Given the description of an element on the screen output the (x, y) to click on. 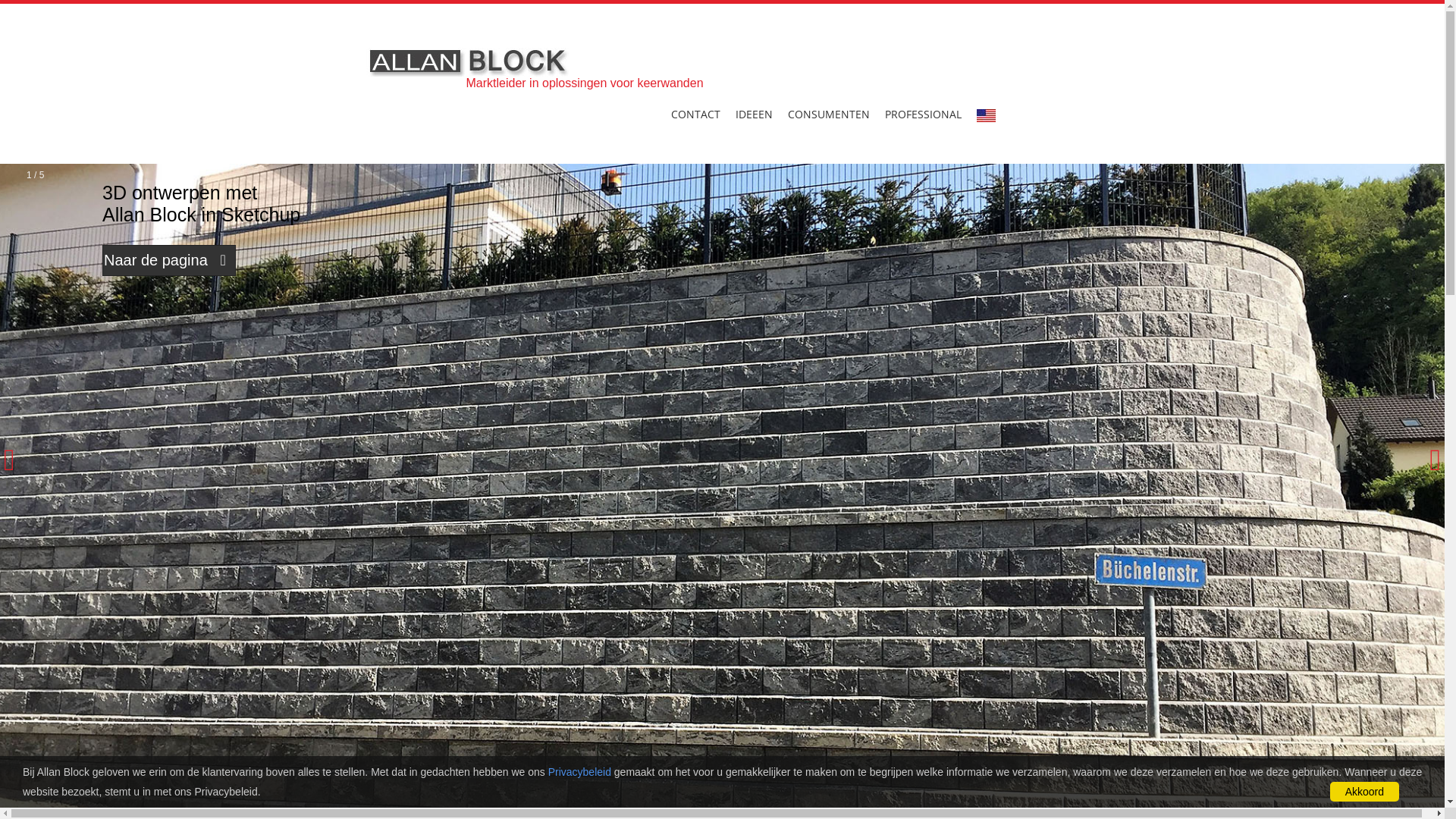
CONTACT Element type: text (694, 113)
IDEEEN Element type: text (753, 113)
PROFESSIONAL Element type: text (922, 113)
website van de Verenigde Staten Element type: hover (985, 115)
Privacybeleid Element type: text (579, 771)
Akkoord Element type: text (1364, 791)
CONSUMENTEN Element type: text (828, 113)
